Given the description of an element on the screen output the (x, y) to click on. 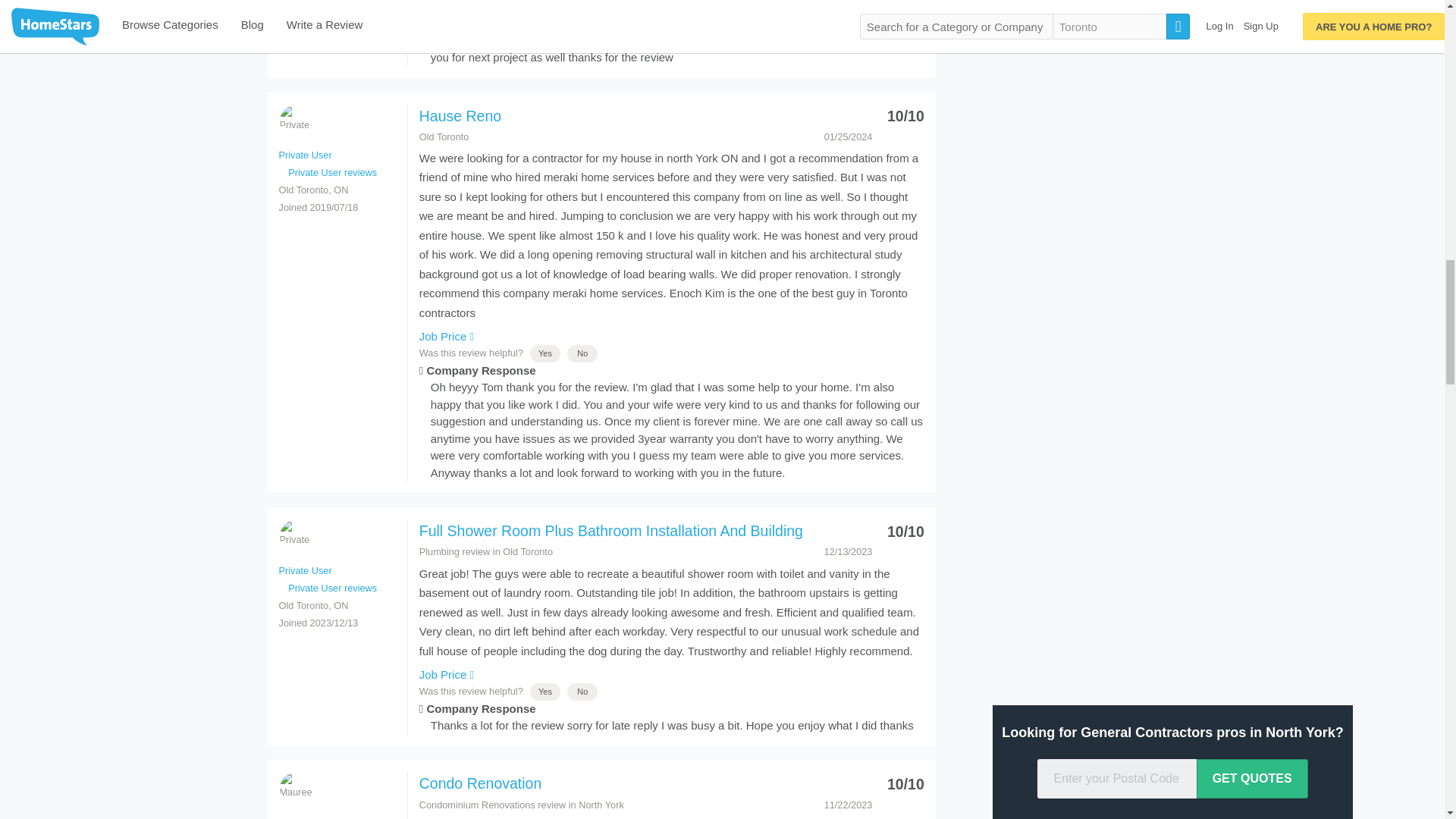
No (582, 353)
Private User (295, 120)
Private User (295, 535)
No (582, 6)
Yes (545, 353)
Yes (545, 6)
Maureen in Toronto (295, 788)
